Given the description of an element on the screen output the (x, y) to click on. 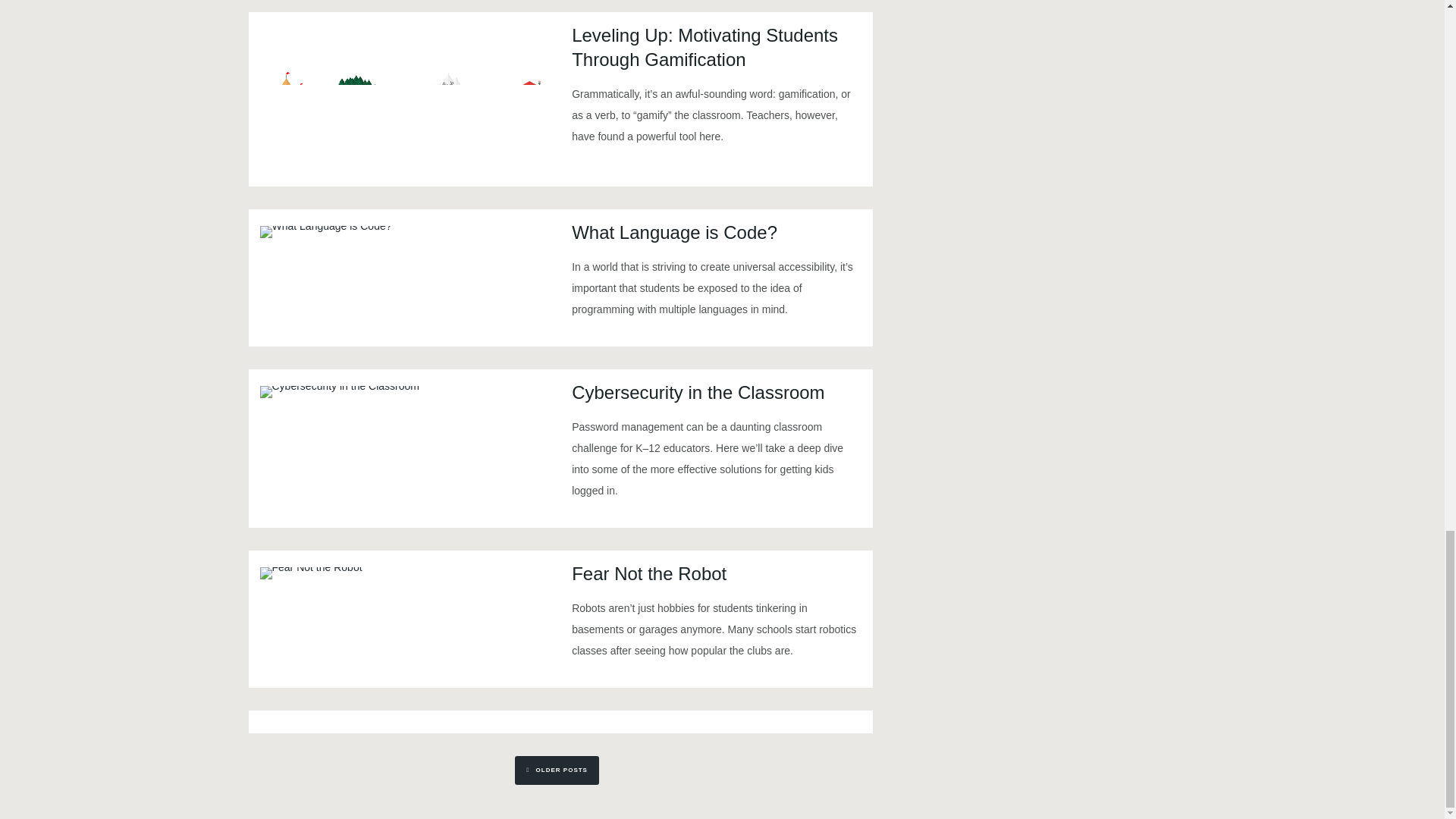
Permalink to Fear Not the Robot (310, 573)
Permalink to Cybersecurity in the Classroom (339, 391)
Permalink to What Language is Code? (325, 232)
